Given the description of an element on the screen output the (x, y) to click on. 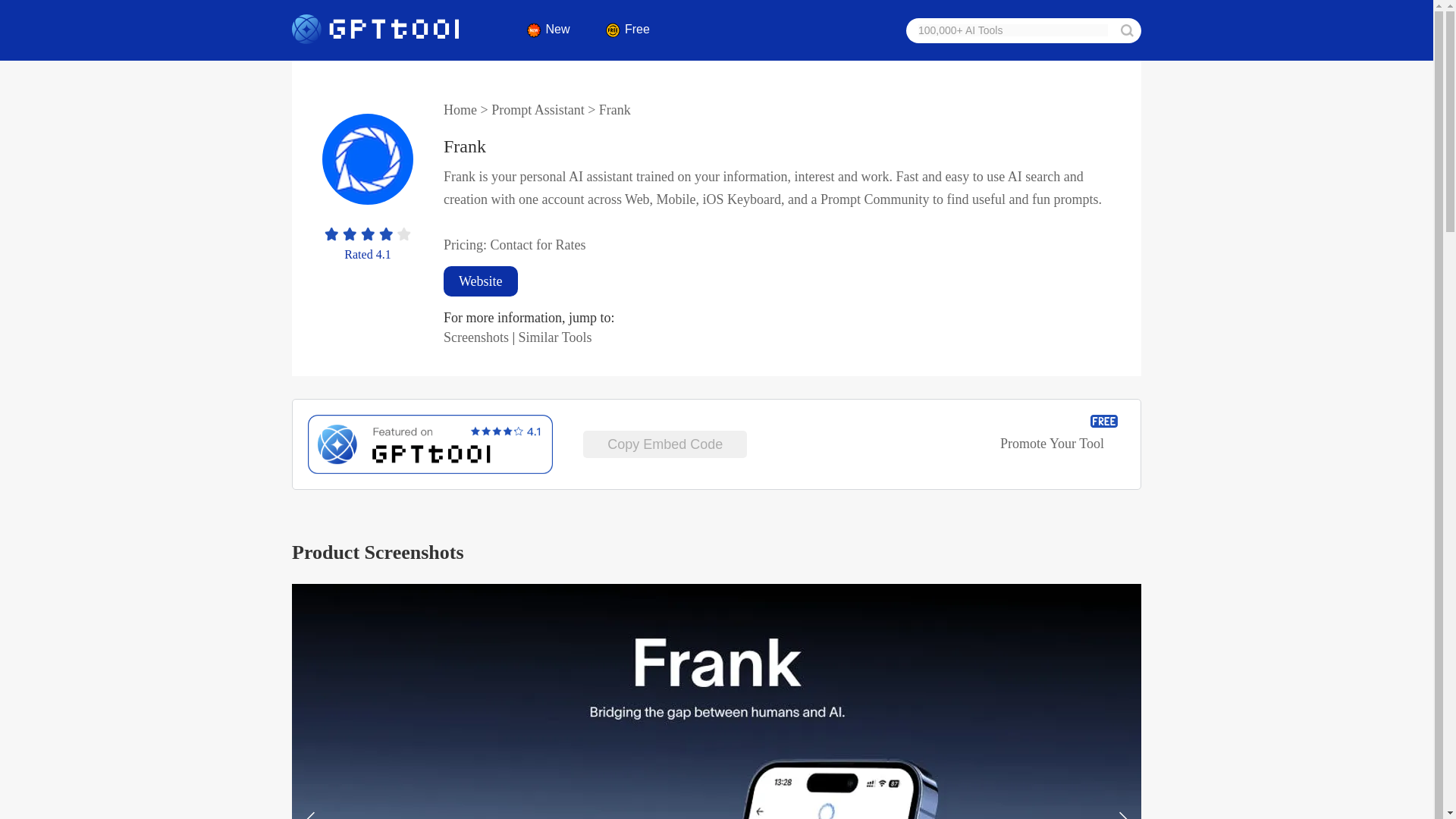
Free (626, 29)
Home (460, 109)
Website (481, 281)
Frank (465, 146)
Prompt Assistant (538, 109)
Screenshots (476, 337)
Copy Embed Code (664, 443)
New (547, 29)
Similar Tools (555, 337)
Promote Your Tool (1052, 458)
